Given the description of an element on the screen output the (x, y) to click on. 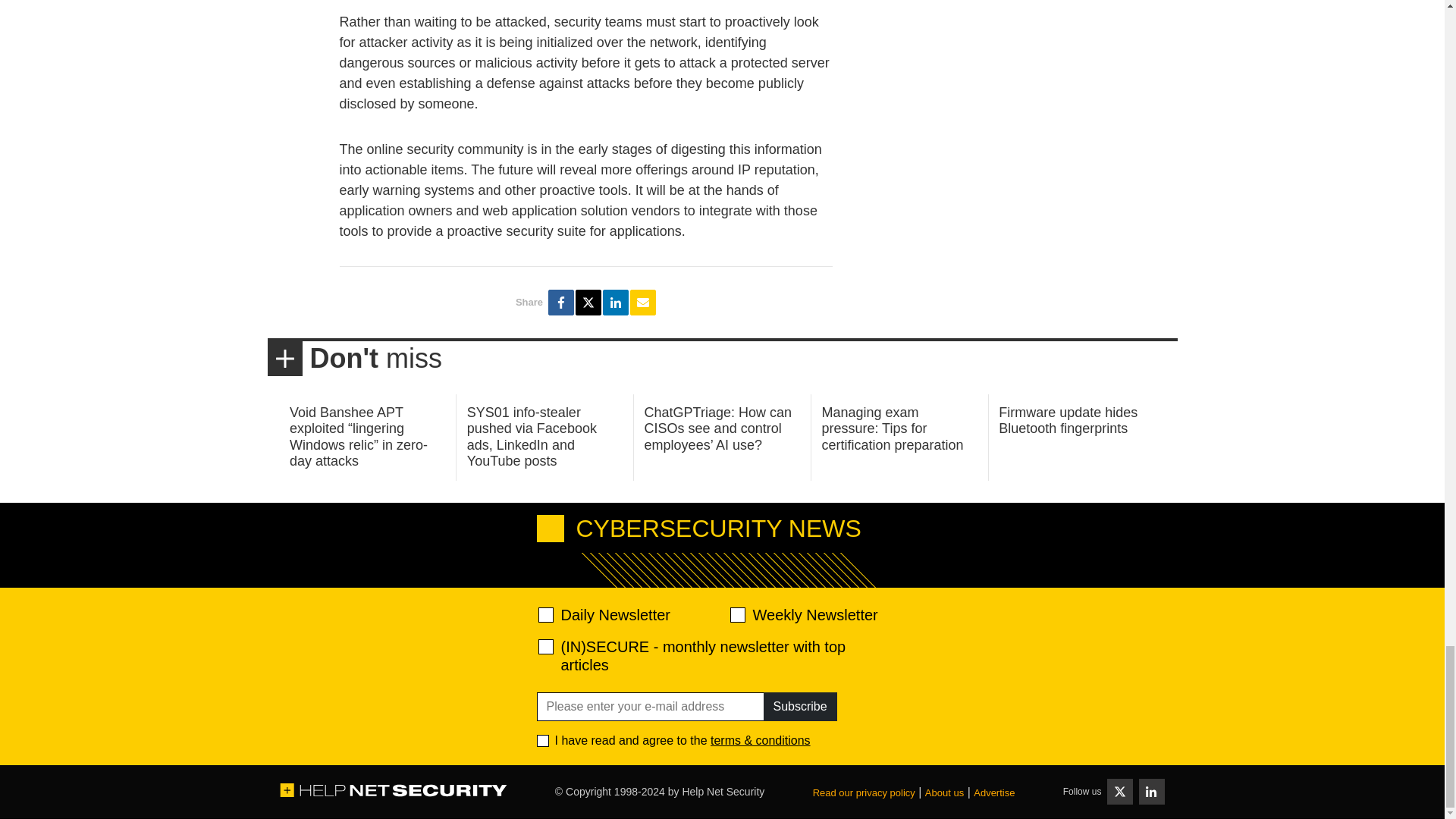
1 (542, 740)
d2d471aafa (736, 614)
28abe5d9ef (545, 646)
Share 5 key security trends for the next decade on Twitter (588, 302)
Share 5 key security trends for the next decade via E-mail (643, 302)
Share 5 key security trends for the next decade on LinkedIn (615, 302)
Share 5 key security trends for the next decade on Facebook (560, 302)
520ac2f639 (545, 614)
